Given the description of an element on the screen output the (x, y) to click on. 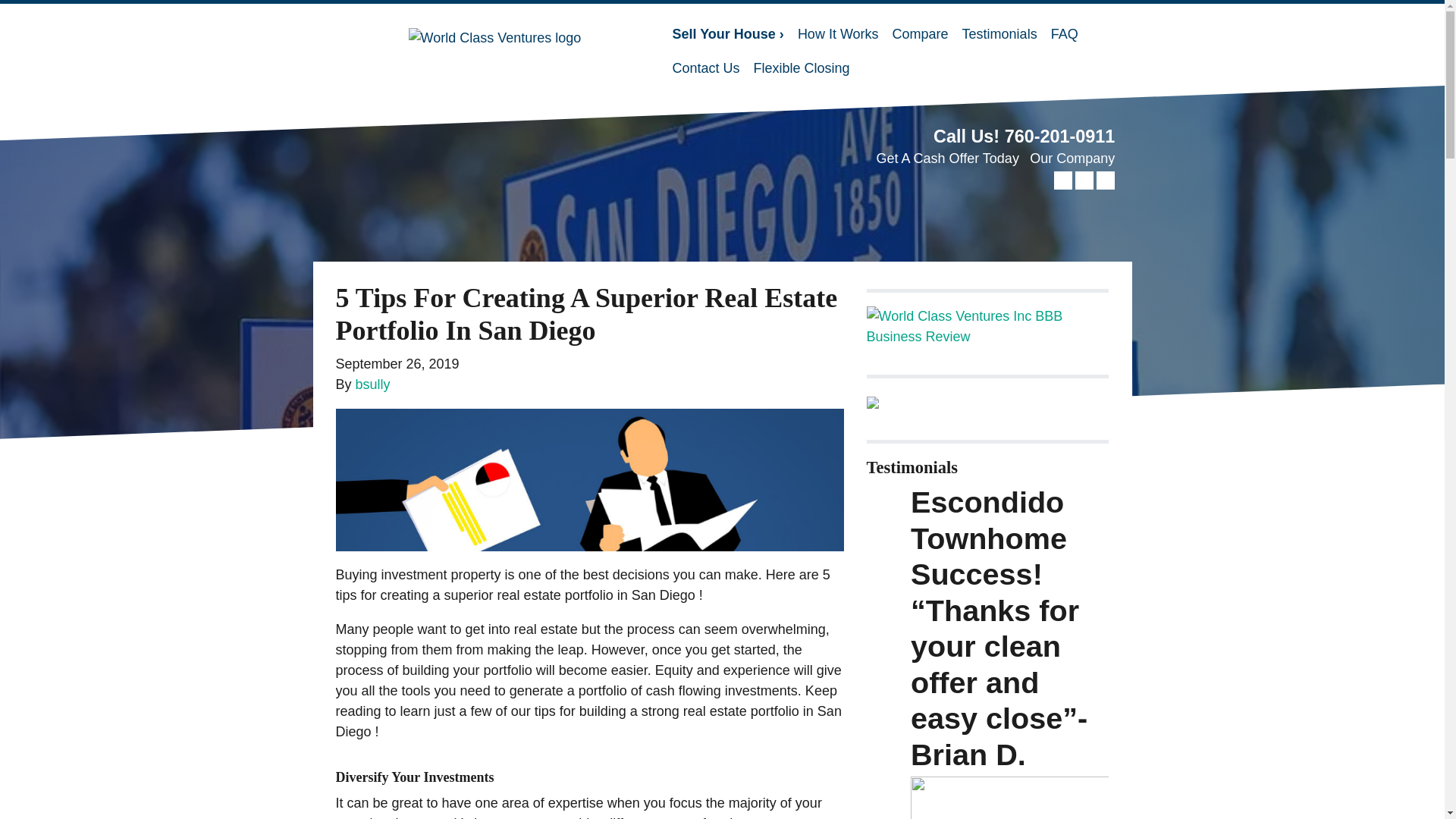
Compare (920, 34)
FAQ (1063, 34)
Testimonials (999, 34)
How It Works (837, 34)
Our Company (1072, 158)
F (801, 68)
LinkedIn (1105, 180)
Contact Us (705, 68)
Testimonials (999, 34)
bsully (372, 384)
FAQ (1063, 34)
Flexible Closing (801, 68)
Facebook (1062, 180)
How It Works (837, 34)
YouTube (1084, 180)
